Given the description of an element on the screen output the (x, y) to click on. 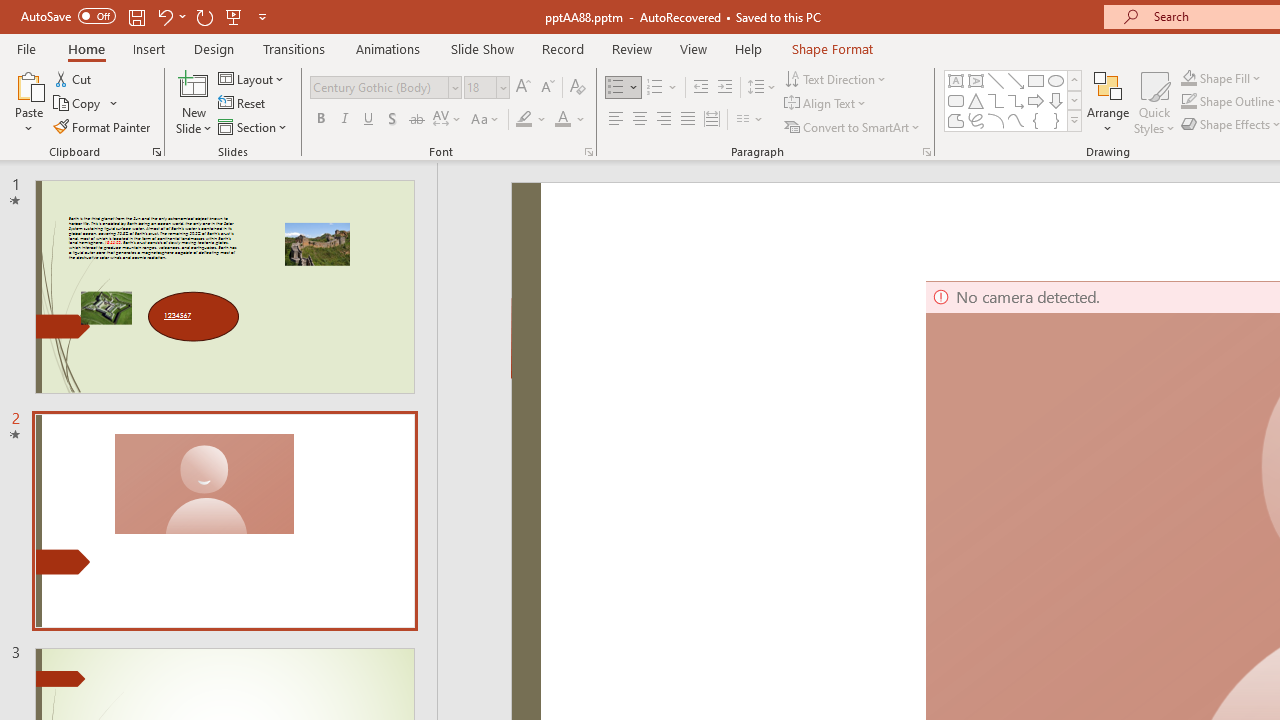
Change Picture (379, 103)
Drop Shadow Rectangle (660, 100)
Simple Frame, Black (940, 100)
Remove Background (41, 102)
Soft Edge Rectangle (772, 100)
Reset Picture (375, 126)
Corrections (118, 102)
Artistic Effects (219, 102)
